Given the description of an element on the screen output the (x, y) to click on. 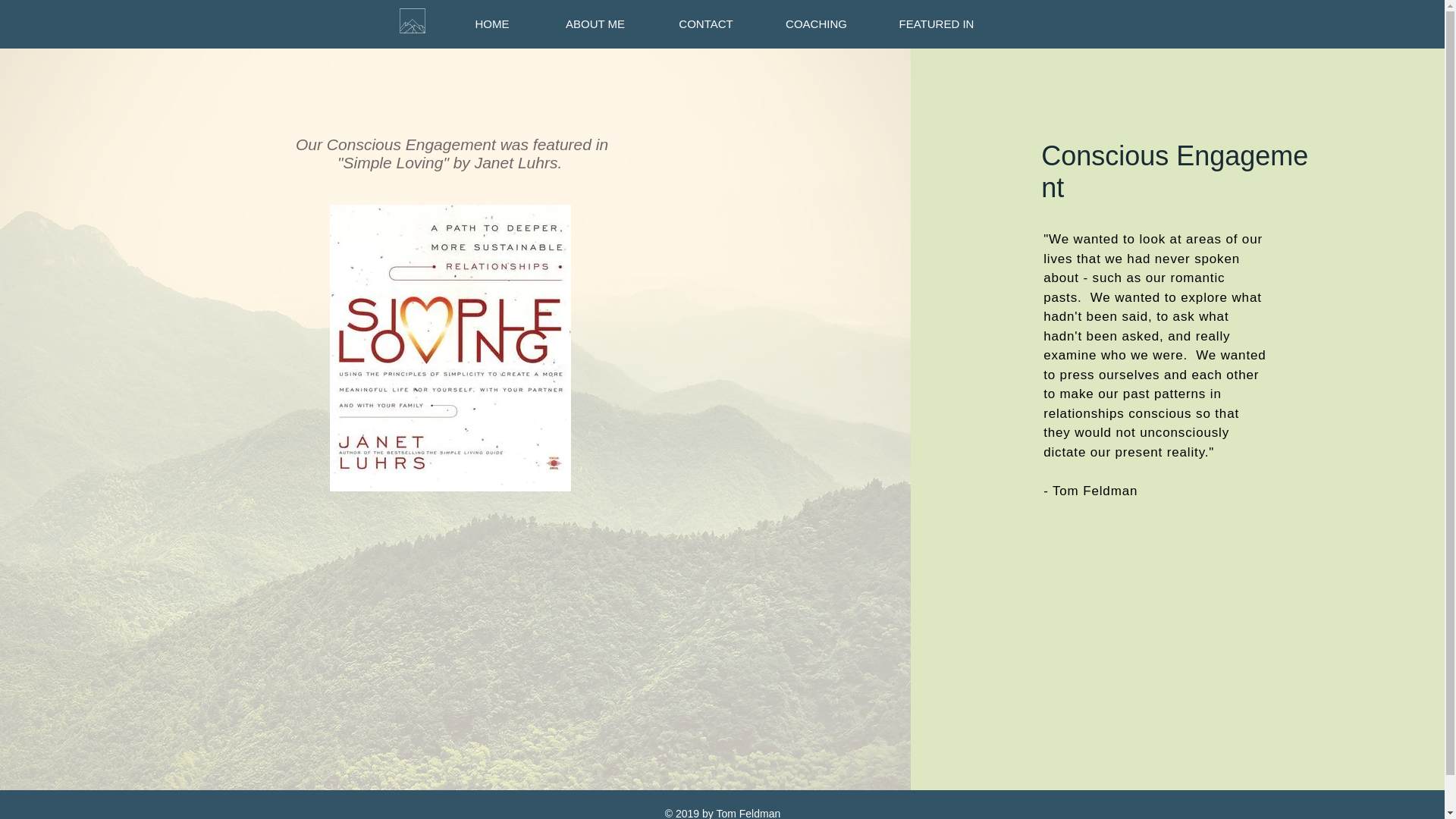
HOME (491, 24)
ABOUT ME (595, 24)
FEATURED IN (936, 24)
COACHING (816, 24)
CONTACT (705, 24)
